Given the description of an element on the screen output the (x, y) to click on. 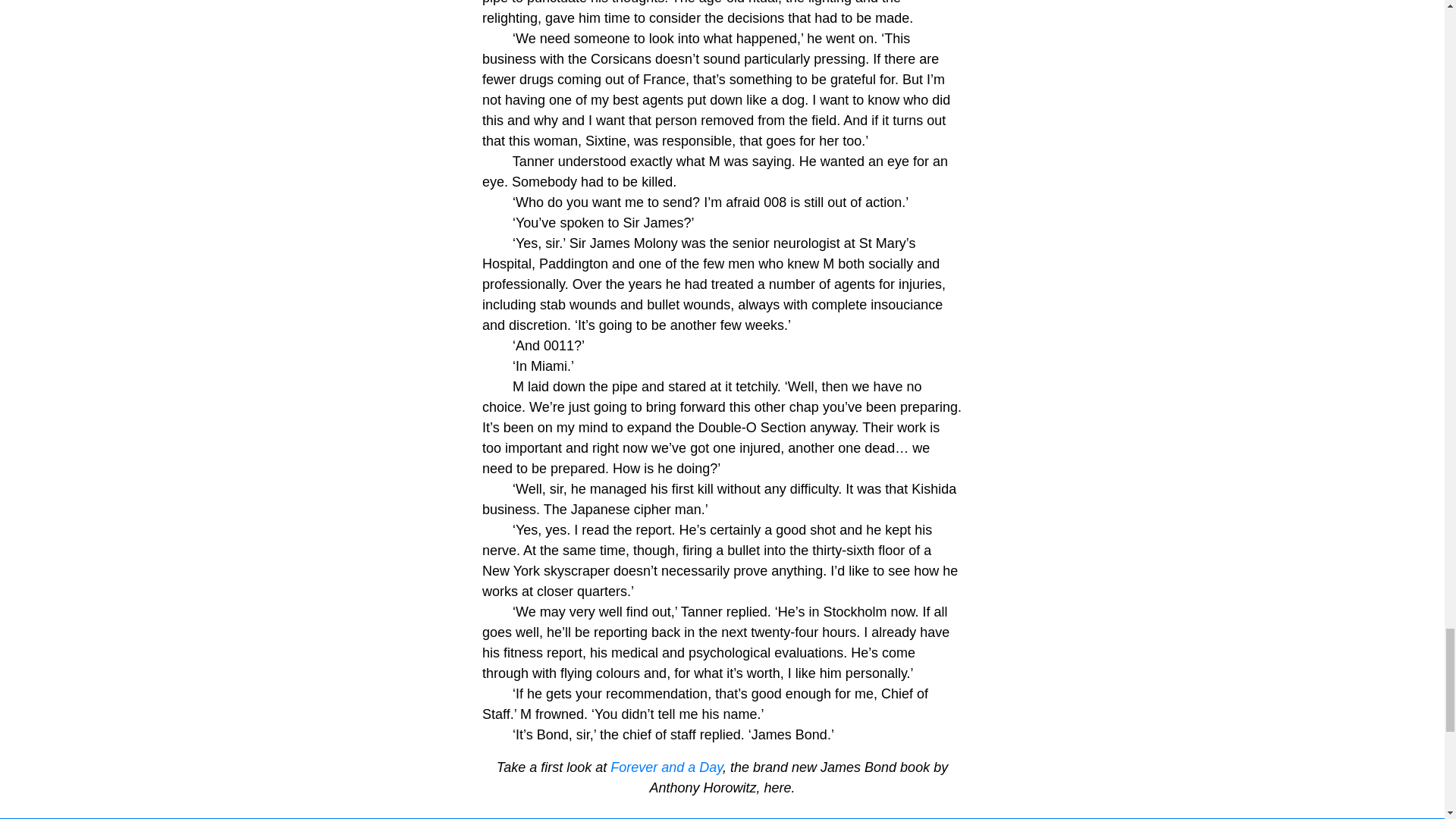
Forever and a Day (666, 767)
